Given the description of an element on the screen output the (x, y) to click on. 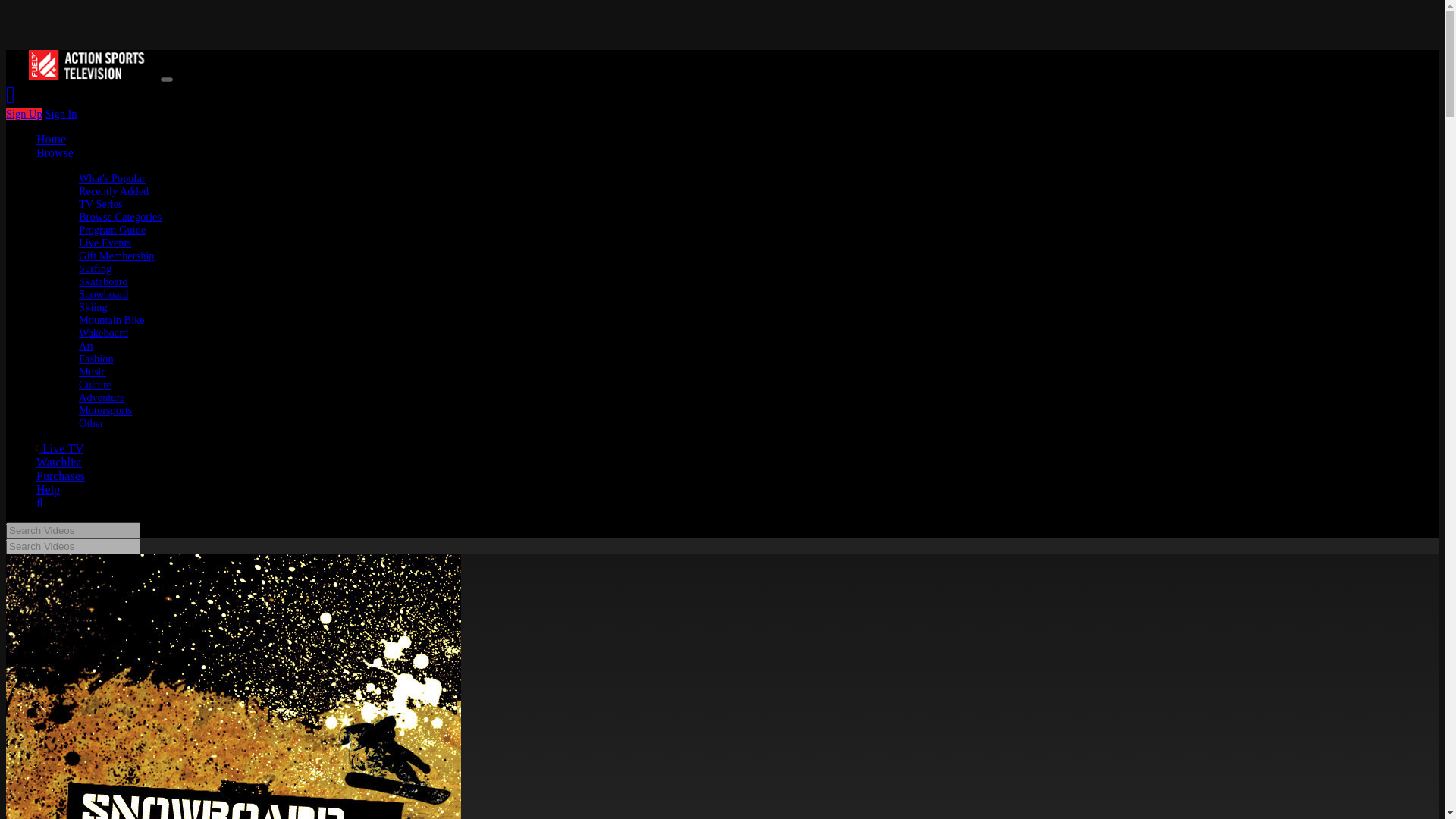
Motorsports (105, 410)
Sign In (61, 113)
Purchases (60, 475)
What's Popular (111, 177)
Live TV (59, 448)
TV Series (100, 203)
Program Guide (111, 229)
Fashion (95, 358)
Mountain Bike (111, 319)
Browse (55, 152)
Snowboard (103, 294)
Art (85, 345)
Gift Membership (116, 255)
Wakeboard (103, 332)
Help (47, 489)
